Given the description of an element on the screen output the (x, y) to click on. 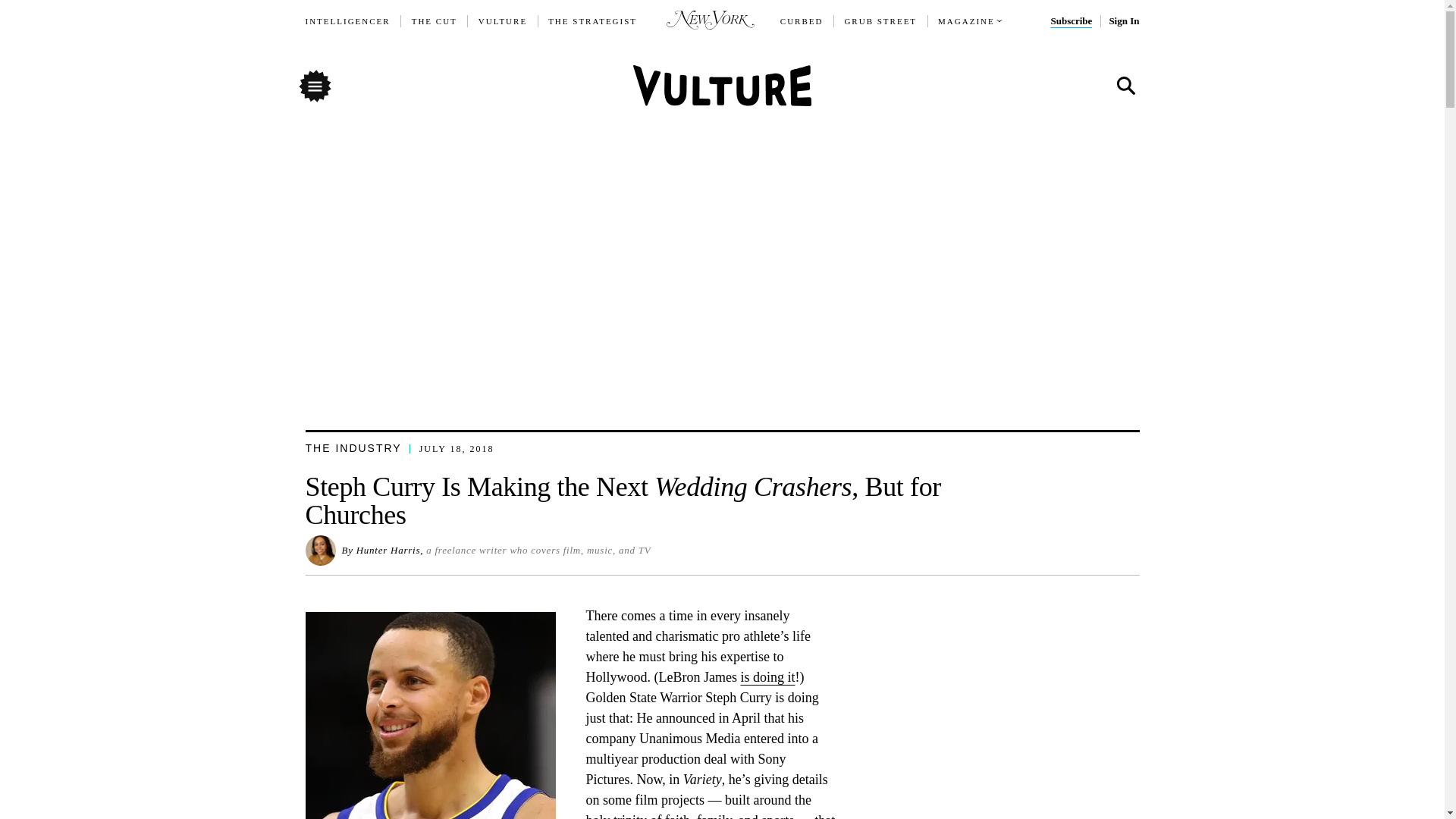
Sign In (1123, 21)
MAGAZINE (965, 21)
Menu (314, 84)
INTELLIGENCER (347, 21)
Subscribe (1070, 21)
CURBED (802, 21)
THE STRATEGIST (592, 21)
Search (1124, 86)
THE CUT (434, 21)
GRUB STREET (880, 21)
VULTURE (503, 21)
